Given the description of an element on the screen output the (x, y) to click on. 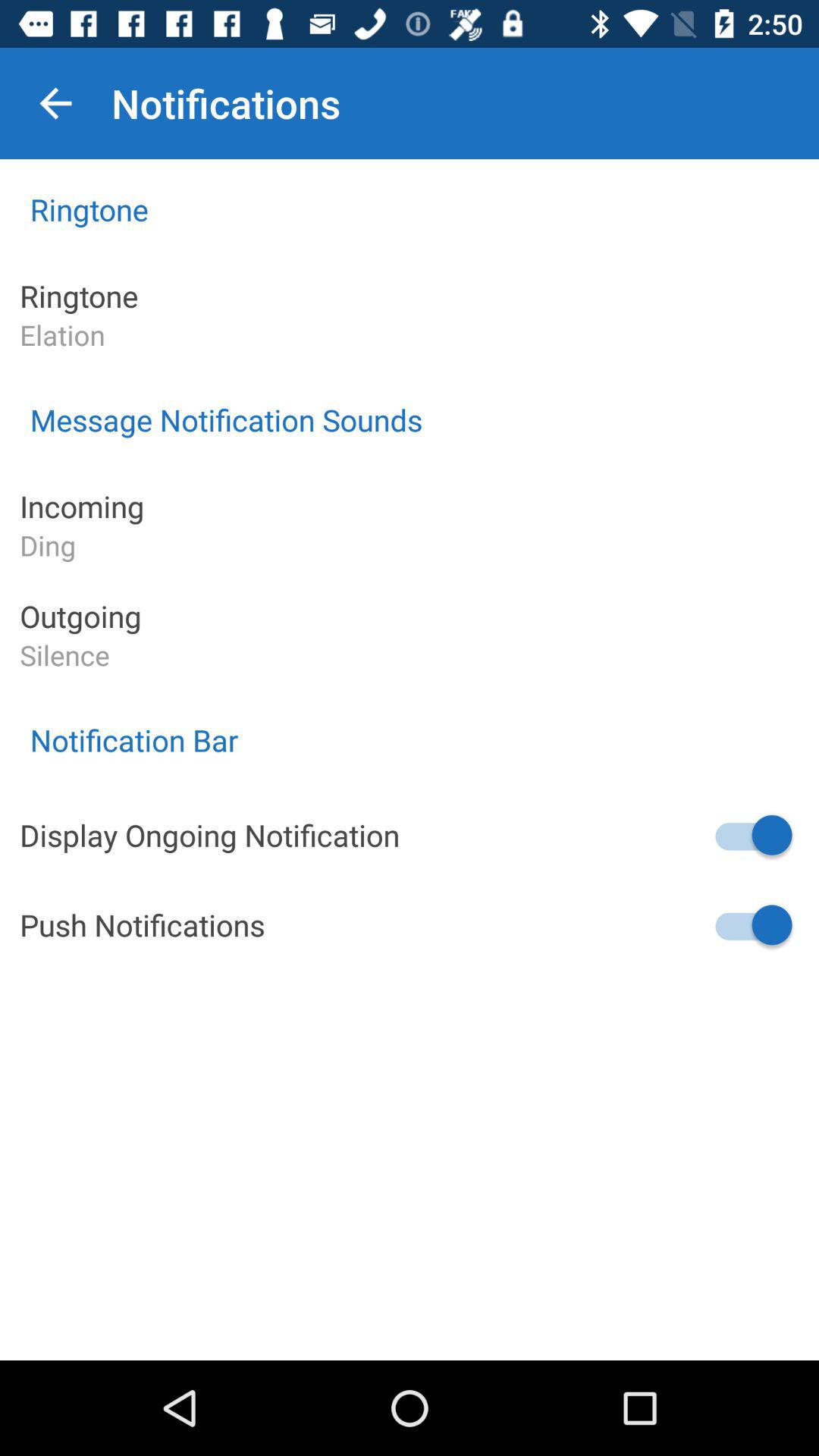
toggle push notifications (751, 925)
